Given the description of an element on the screen output the (x, y) to click on. 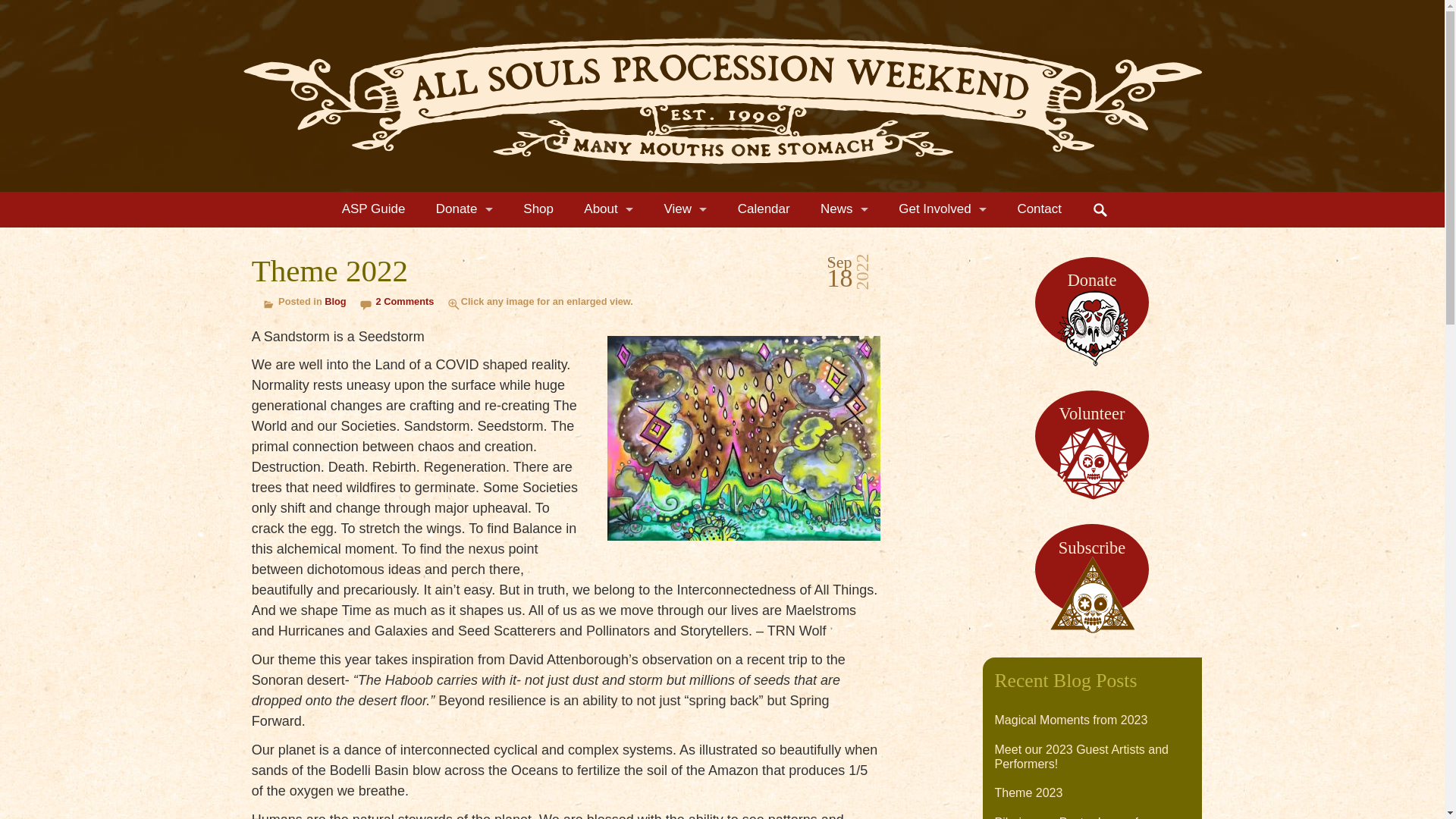
Skip to content (741, 229)
Contact (1039, 209)
Skip to content (741, 229)
Calendar (764, 209)
Blog (335, 301)
View (684, 209)
ASP Guide (374, 209)
Shop (538, 209)
News (844, 209)
2 Comments (404, 301)
Get Involved (941, 209)
Theme 2022 (743, 554)
About (608, 209)
Donate (464, 209)
